Given the description of an element on the screen output the (x, y) to click on. 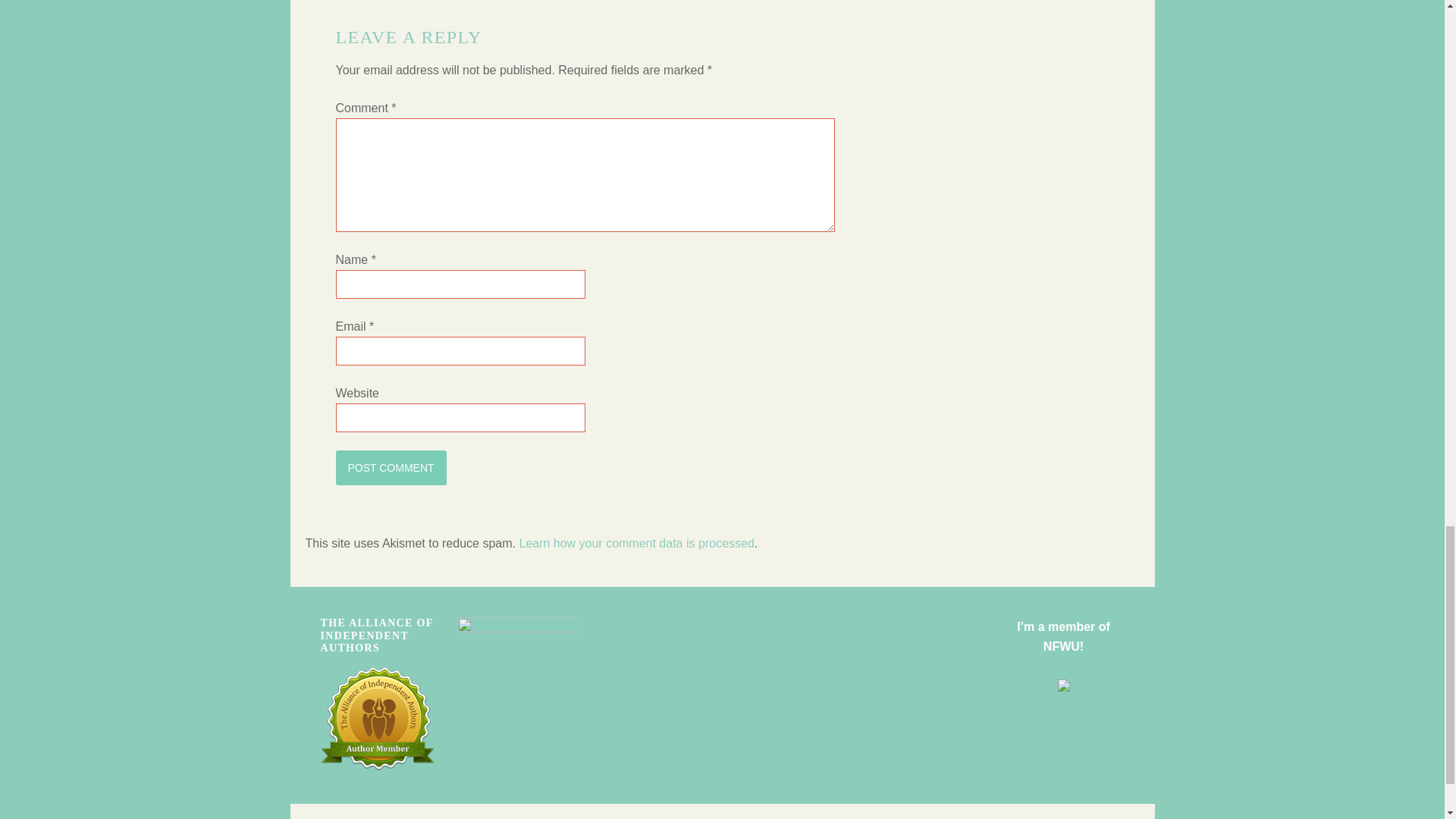
Post Comment (389, 467)
Elevate Your Storytelling (517, 627)
